Given the description of an element on the screen output the (x, y) to click on. 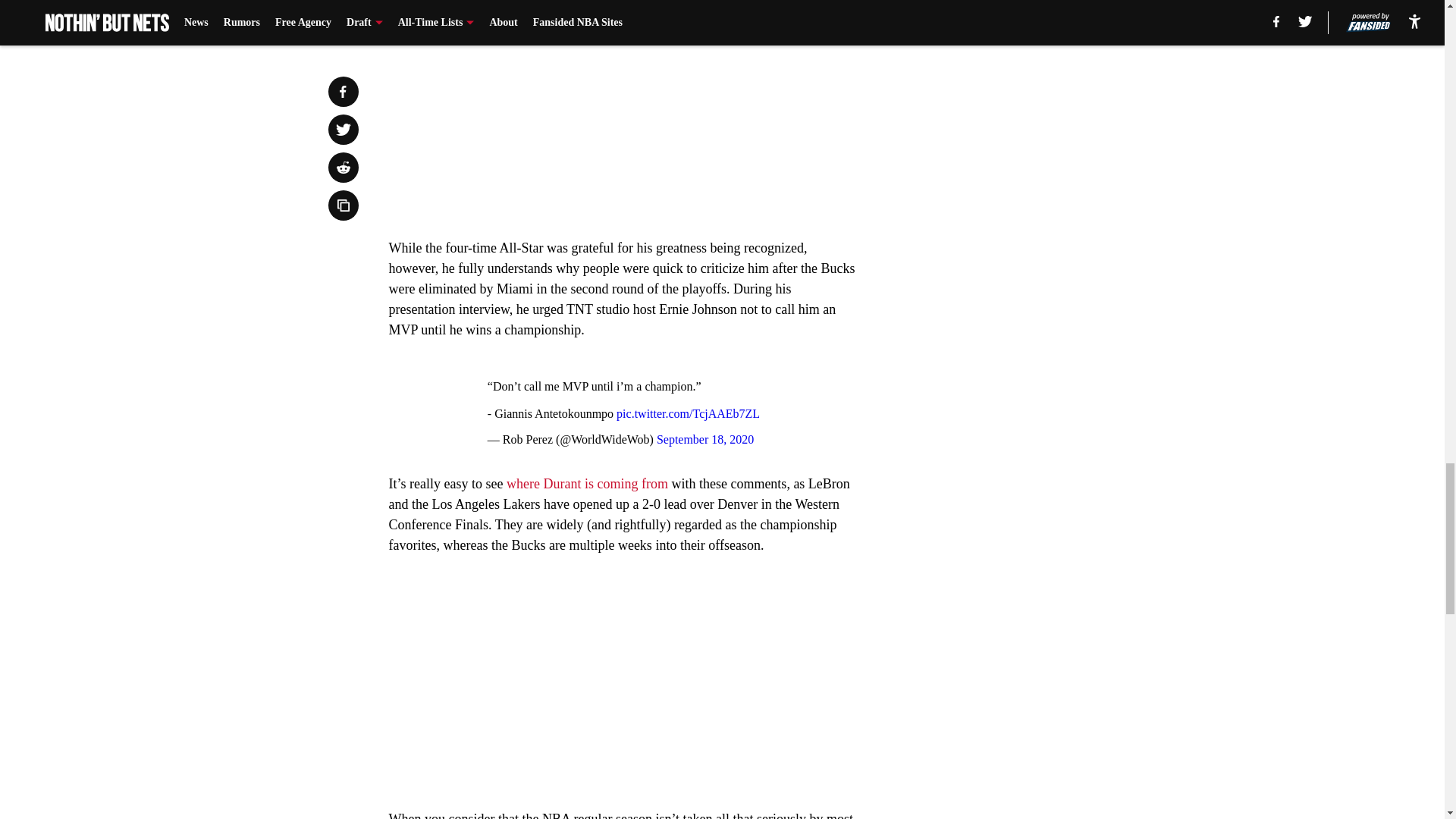
where Durant is coming from (587, 483)
September 18, 2020 (705, 439)
